Given the description of an element on the screen output the (x, y) to click on. 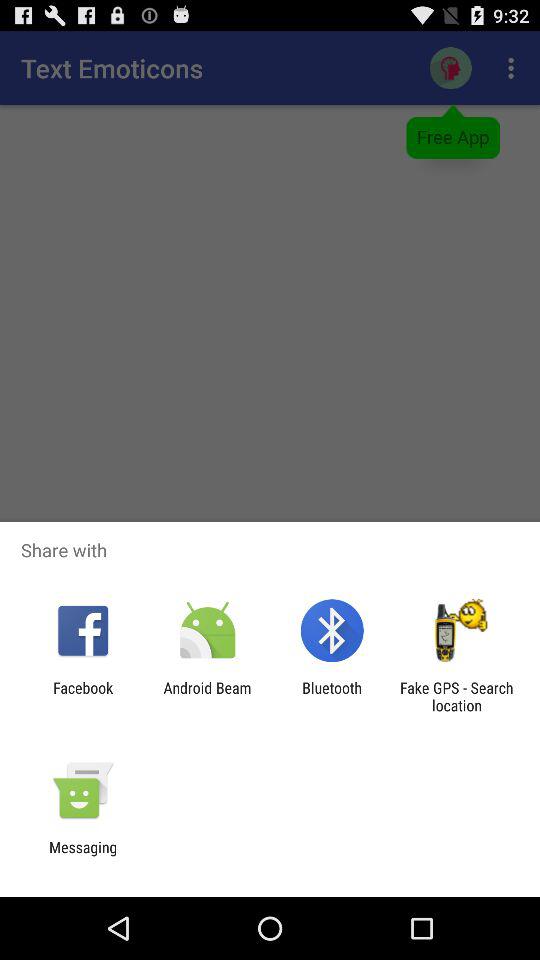
turn off the icon next to android beam icon (331, 696)
